Given the description of an element on the screen output the (x, y) to click on. 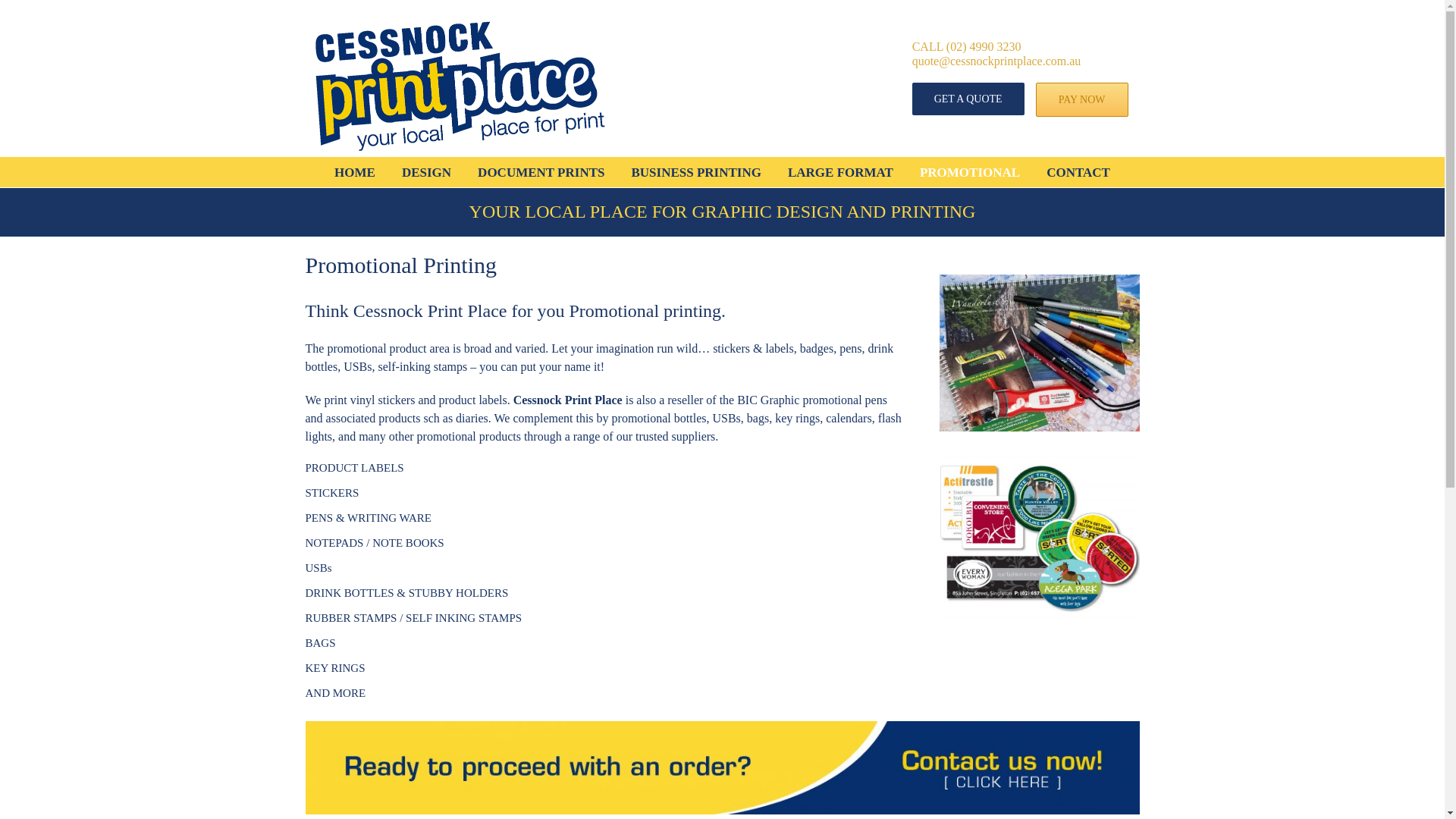
GET A QUOTE (968, 98)
promotional-printing-2 (1038, 533)
DESIGN (426, 172)
PAY NOW (1081, 99)
HOME (354, 172)
promotional-printing-1 (1038, 352)
CONTACT (1077, 172)
BUSINESS PRINTING (695, 172)
DOCUMENT PRINTS (540, 172)
LARGE FORMAT (840, 172)
